Given the description of an element on the screen output the (x, y) to click on. 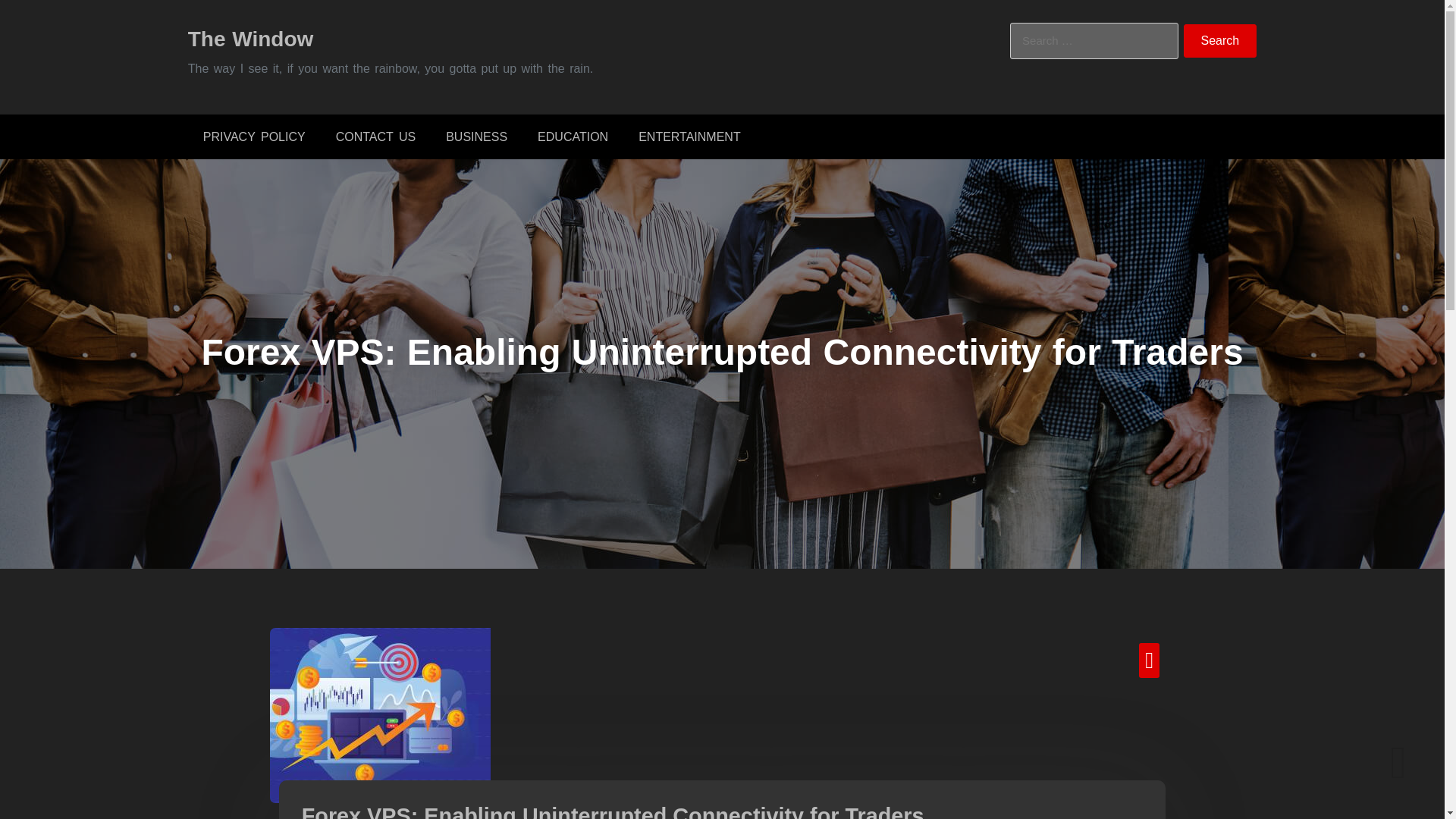
BUSINESS (476, 136)
PRIVACY POLICY (253, 136)
ENTERTAINMENT (689, 136)
The Window (250, 38)
Search (1220, 40)
EDUCATION (572, 136)
Search (1220, 40)
CONTACT US (375, 136)
Search (1220, 40)
